Given the description of an element on the screen output the (x, y) to click on. 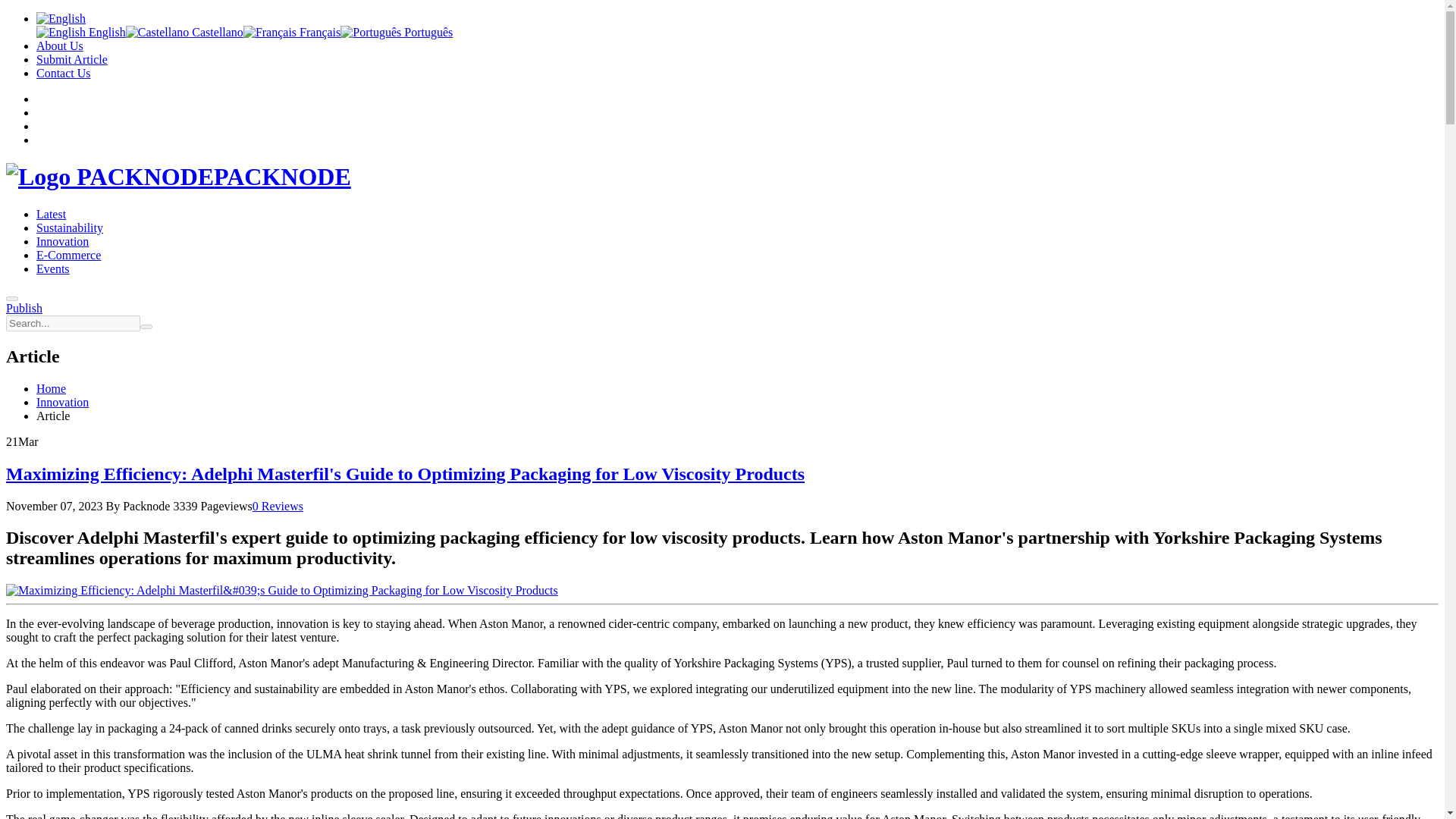
Submit Article (71, 59)
Link to English (80, 31)
Link to Innovation (62, 241)
Link to Sustainability (69, 227)
Link to Contact Us (63, 72)
E-Commerce (68, 254)
Sustainability (69, 227)
Contact Us (63, 72)
Link to E-Commerce (68, 254)
Link to Events (52, 268)
